Given the description of an element on the screen output the (x, y) to click on. 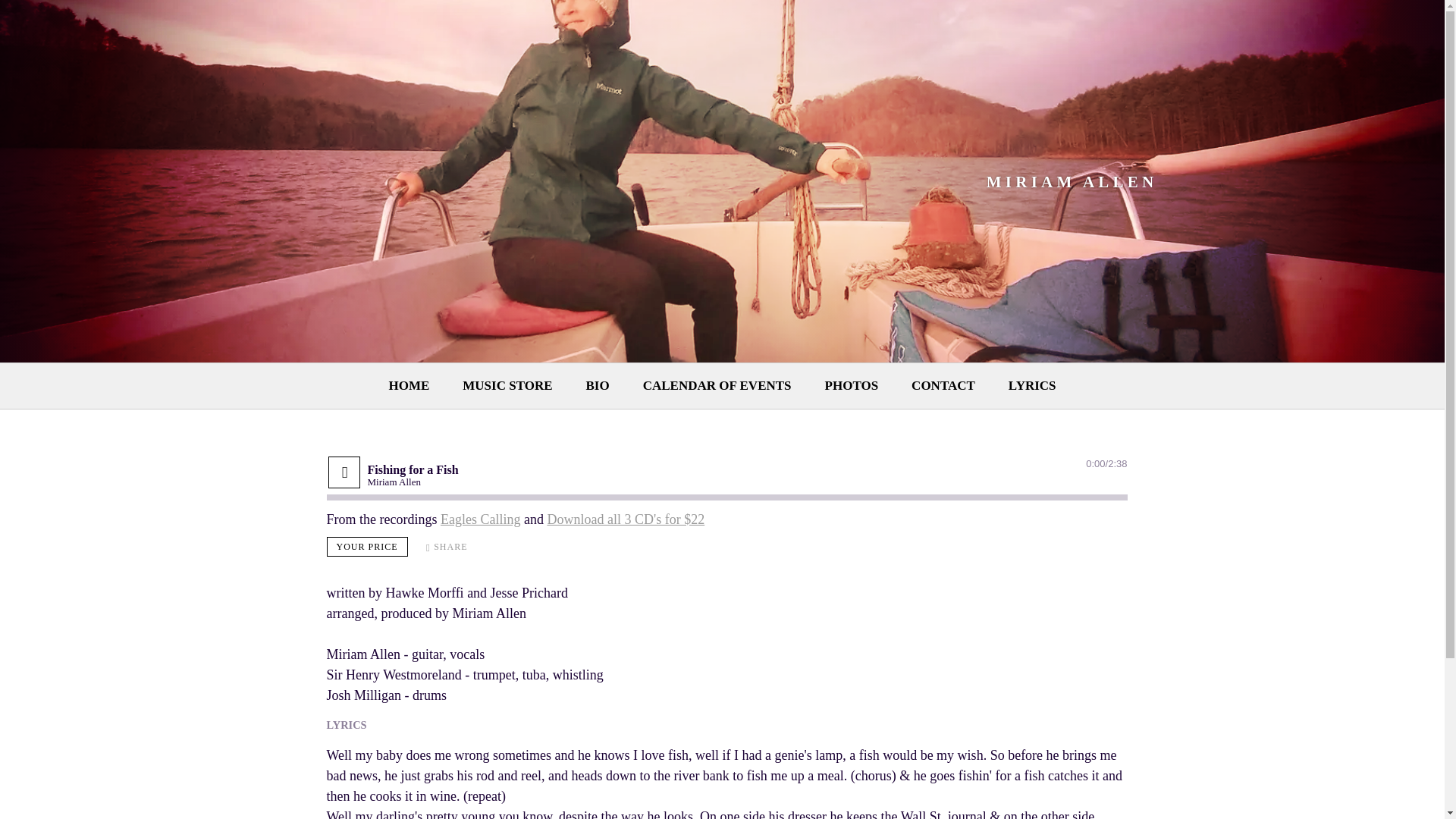
SHARE (446, 546)
LYRICS (1031, 385)
Share Fishing for a Fish (446, 546)
PHOTOS (851, 385)
Eagles Calling (480, 518)
CONTACT (943, 385)
MUSIC STORE (506, 385)
MIRIAM ALLEN (1072, 180)
CALENDAR OF EVENTS (717, 385)
HOME (408, 385)
